Given the description of an element on the screen output the (x, y) to click on. 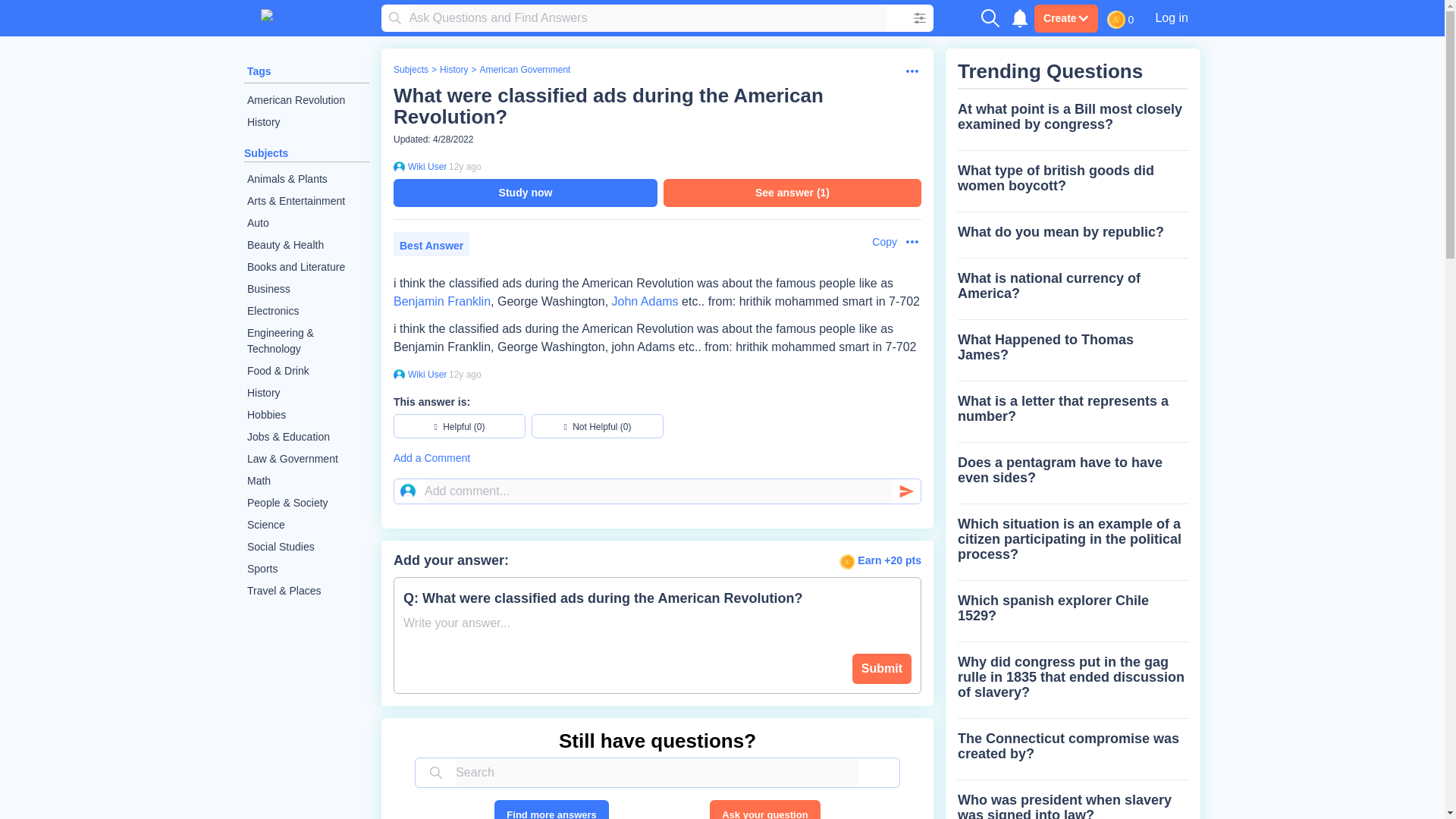
Hobbies (306, 414)
Books and Literature (306, 267)
Math (306, 481)
Electronics (306, 311)
Study now (525, 193)
History (306, 393)
History (306, 122)
Science (306, 525)
History (453, 69)
Benjamin Franklin (441, 300)
Auto (306, 223)
Tags (258, 70)
Copy (876, 242)
Sports (306, 568)
What were classified ads during the American Revolution? (608, 105)
